Given the description of an element on the screen output the (x, y) to click on. 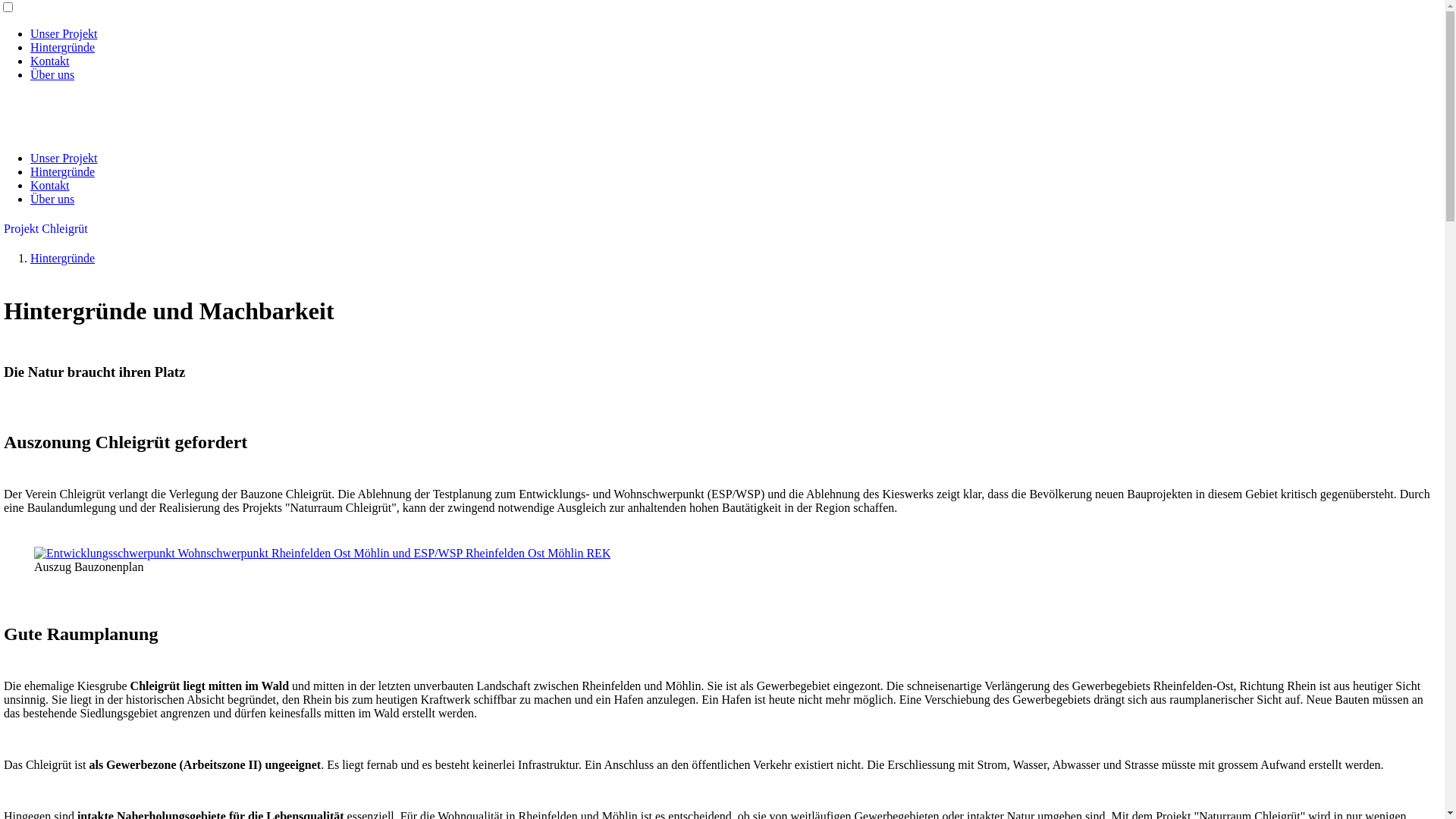
Kontakt Element type: text (49, 184)
Unser Projekt Element type: text (63, 33)
Unser Projekt Element type: text (63, 157)
Kontakt Element type: text (49, 60)
